Given the description of an element on the screen output the (x, y) to click on. 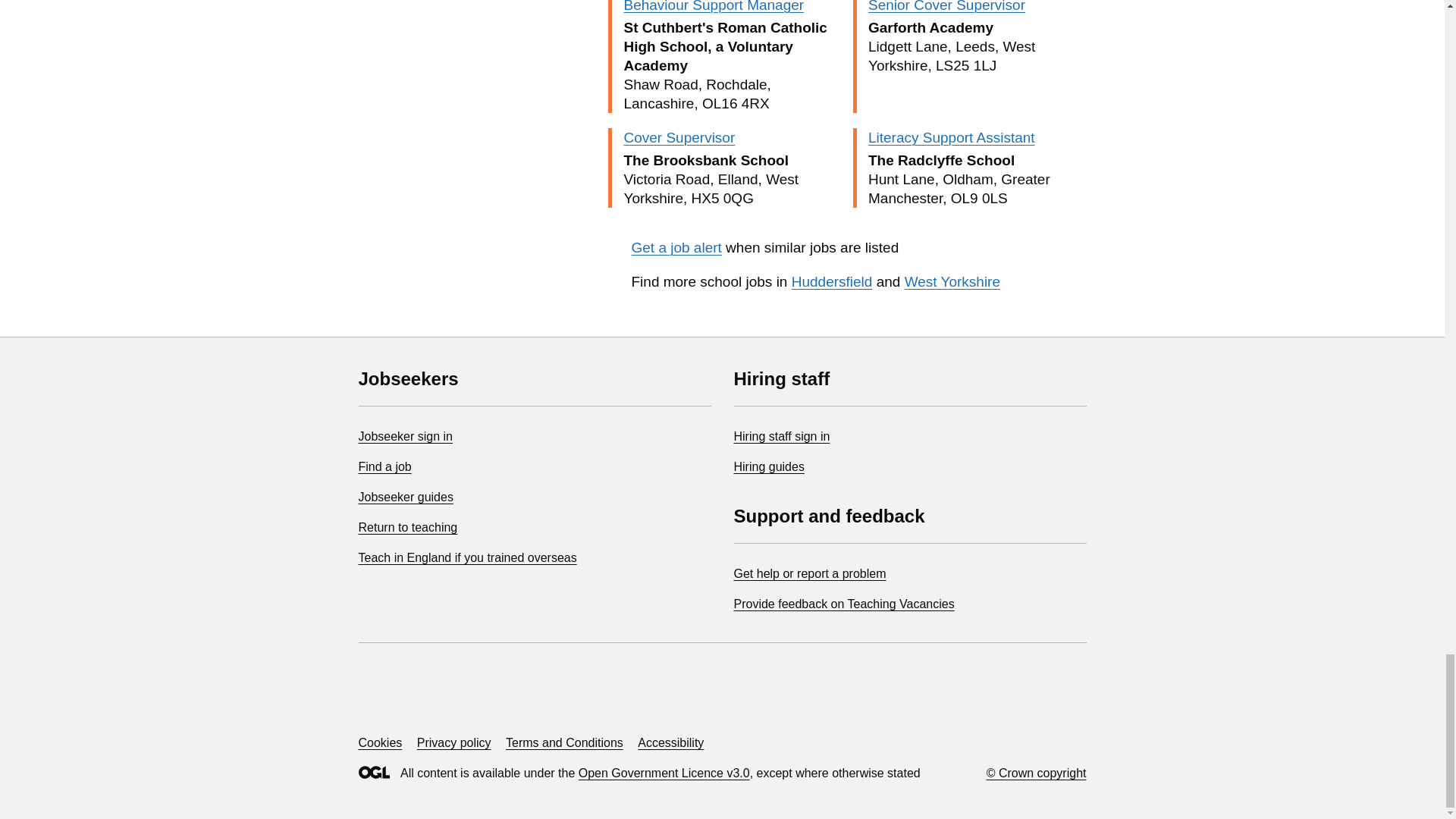
Hiring staff sign in (781, 436)
Teach in England if you trained overseas (467, 557)
Senior Cover Supervisor (946, 6)
Jobseeker guides (405, 496)
Jobseeker sign in (405, 436)
Cover Supervisor (679, 137)
Get help or report a problem (809, 573)
Huddersfield (832, 281)
Behaviour Support Manager (713, 6)
Hiring guides (769, 466)
